Given the description of an element on the screen output the (x, y) to click on. 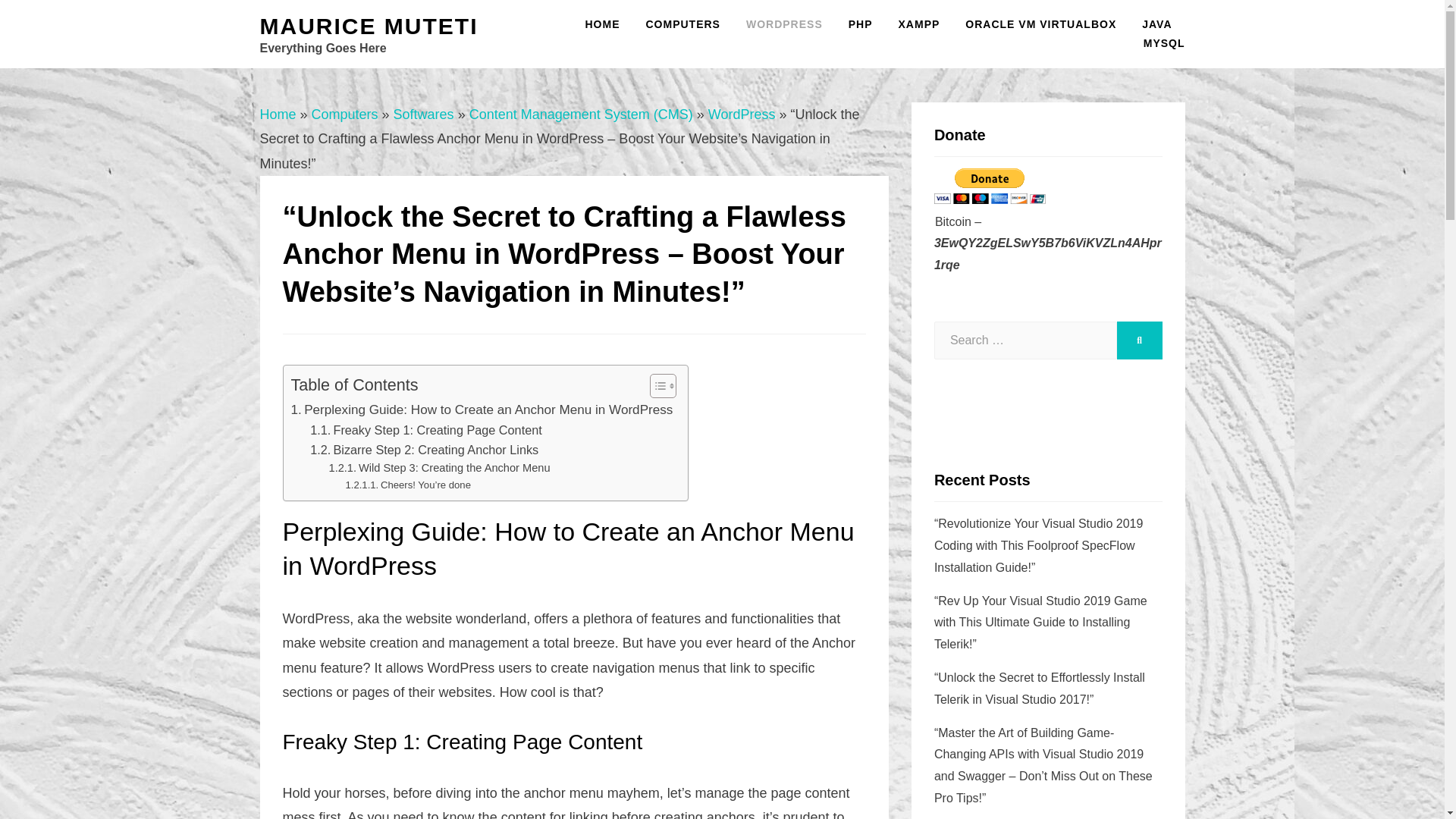
Search for: (1025, 340)
Computers (344, 114)
Perplexing Guide: How to Create an Anchor Menu in WordPress (481, 409)
Bizarre Step 2: Creating Anchor Links (424, 449)
JAVA (1157, 24)
Bizarre Step 2: Creating Anchor Links (424, 449)
Wild Step 3: Creating the Anchor Menu (439, 467)
COMPUTERS (681, 24)
Freaky Step 1: Creating Page Content (425, 429)
PHP (860, 24)
Freaky Step 1: Creating Page Content (425, 429)
Perplexing Guide: How to Create an Anchor Menu in WordPress (481, 409)
PayPal - The safer, easier way to pay online! (989, 185)
MYSQL (1158, 43)
ORACLE VM VIRTUALBOX (1040, 24)
